Given the description of an element on the screen output the (x, y) to click on. 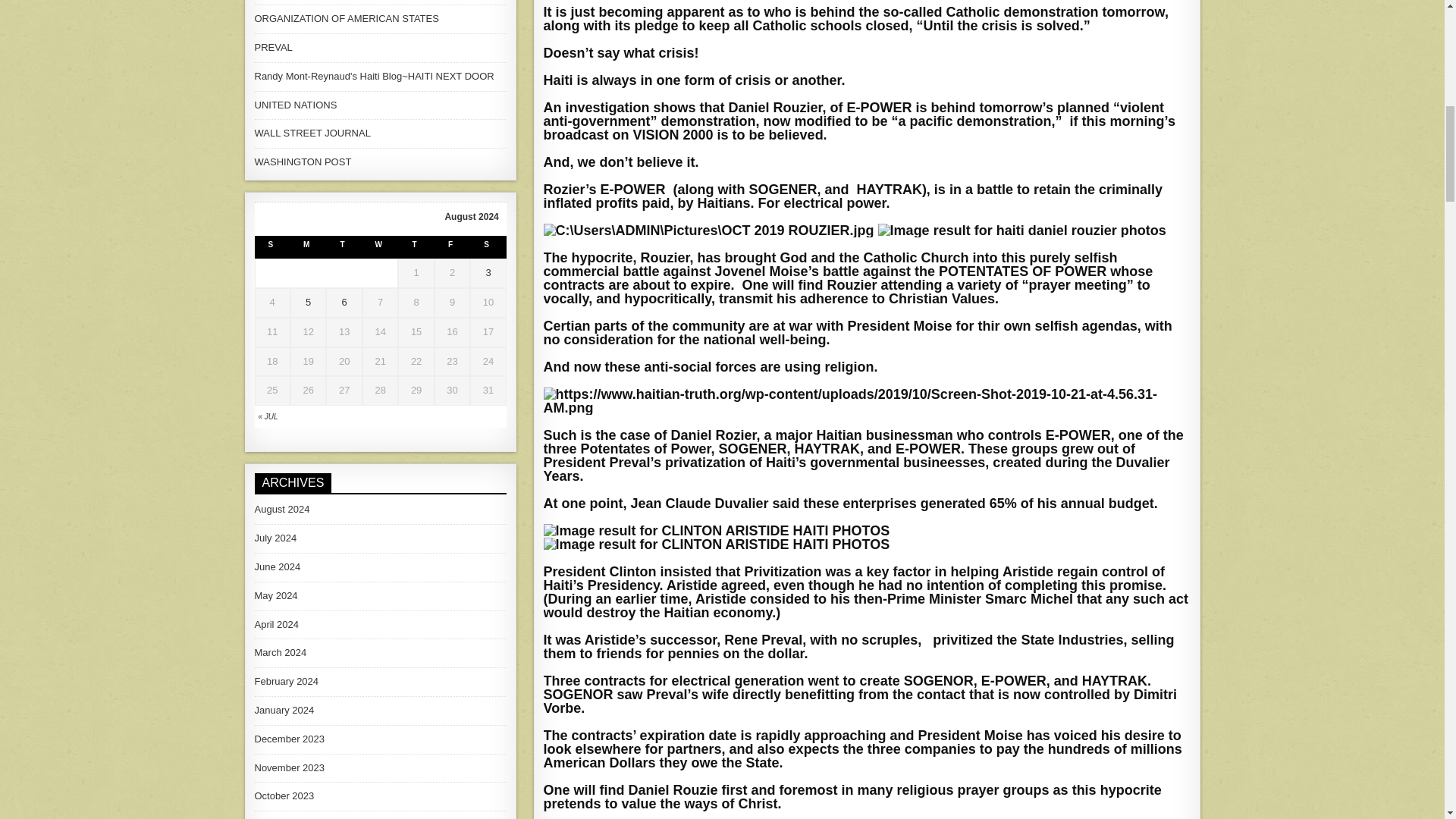
Monday (307, 246)
Tuesday (343, 246)
Sunday (271, 246)
